Given the description of an element on the screen output the (x, y) to click on. 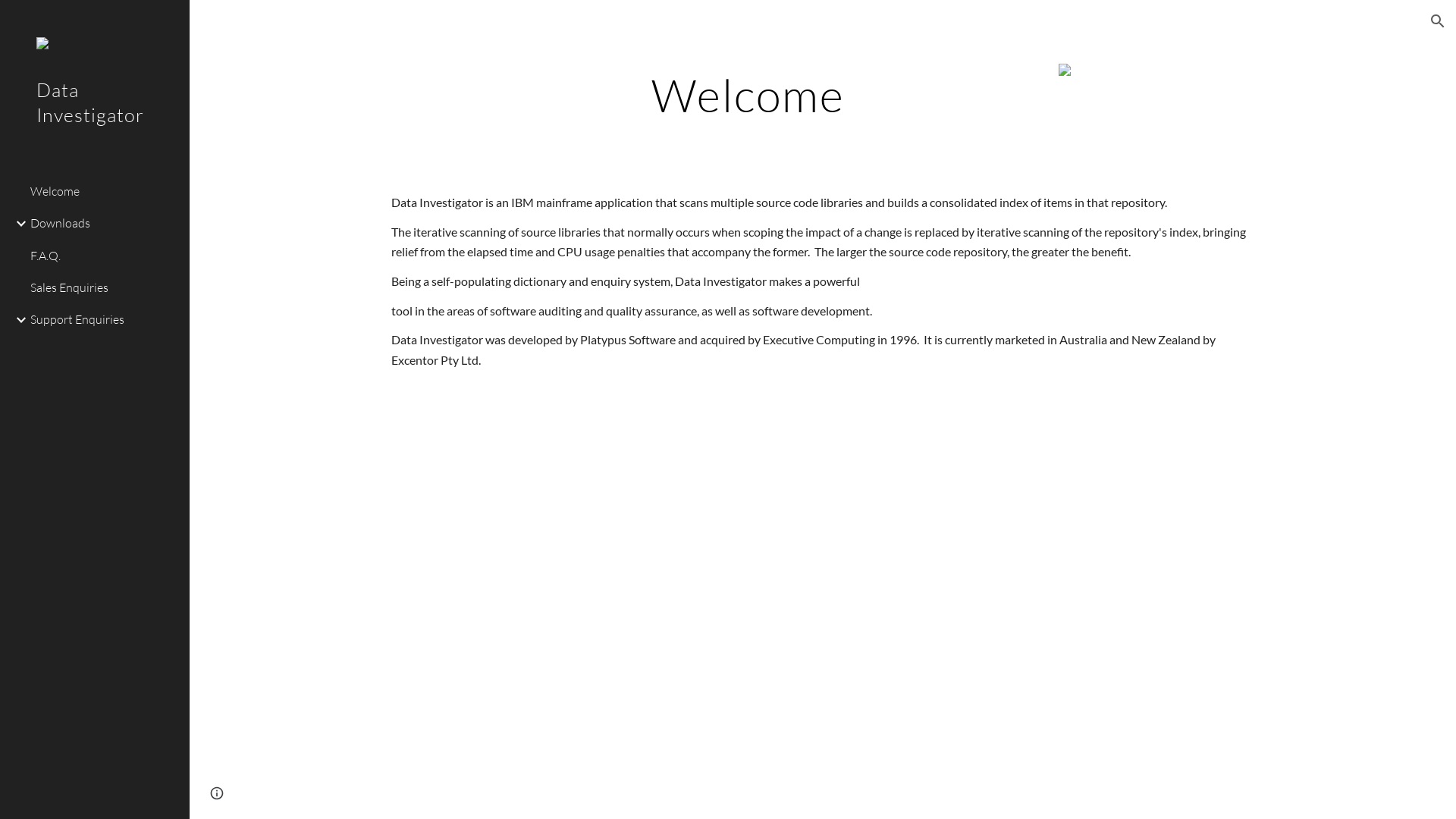
Expand/Collapse Element type: hover (16, 223)
Expand/Collapse Element type: hover (16, 319)
Downloads Element type: text (103, 223)
Data Investigator Element type: text (94, 122)
Welcome Element type: text (103, 191)
Sales Enquiries Element type: text (103, 287)
F.A.Q. Element type: text (103, 255)
Support Enquiries Element type: text (103, 319)
